Given the description of an element on the screen output the (x, y) to click on. 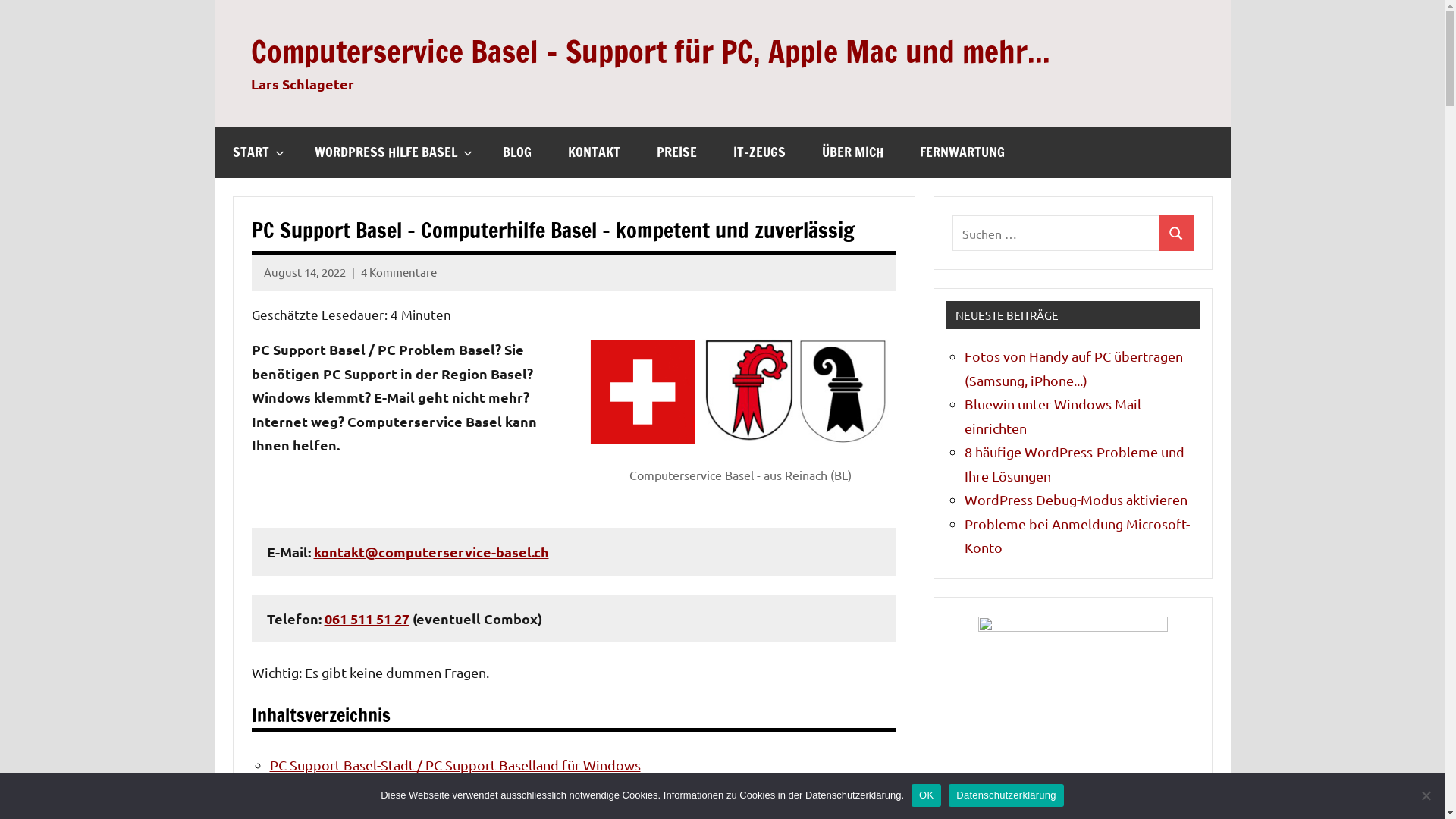
WORDPRESS HILFE BASEL Element type: text (389, 152)
061 511 51 27 Element type: text (366, 618)
START Element type: text (254, 152)
Suchen nach: Element type: hover (1056, 233)
kontakt@computerservice-basel.ch Element type: text (431, 551)
KONTAKT Element type: text (593, 152)
IT-ZEUGS Element type: text (758, 152)
Probleme bei Anmeldung Microsoft-Konto Element type: text (1076, 535)
BLOG Element type: text (516, 152)
OK Element type: text (926, 795)
FERNWARTUNG Element type: text (961, 152)
August 14, 2022 Element type: text (304, 271)
Nein Element type: hover (1425, 795)
4 Kommentare Element type: text (398, 271)
Bluewin unter Windows Mail einrichten Element type: text (1052, 415)
Suchen Element type: text (1176, 233)
PREISE Element type: text (676, 152)
WordPress Debug-Modus aktivieren Element type: text (1075, 499)
